Given the description of an element on the screen output the (x, y) to click on. 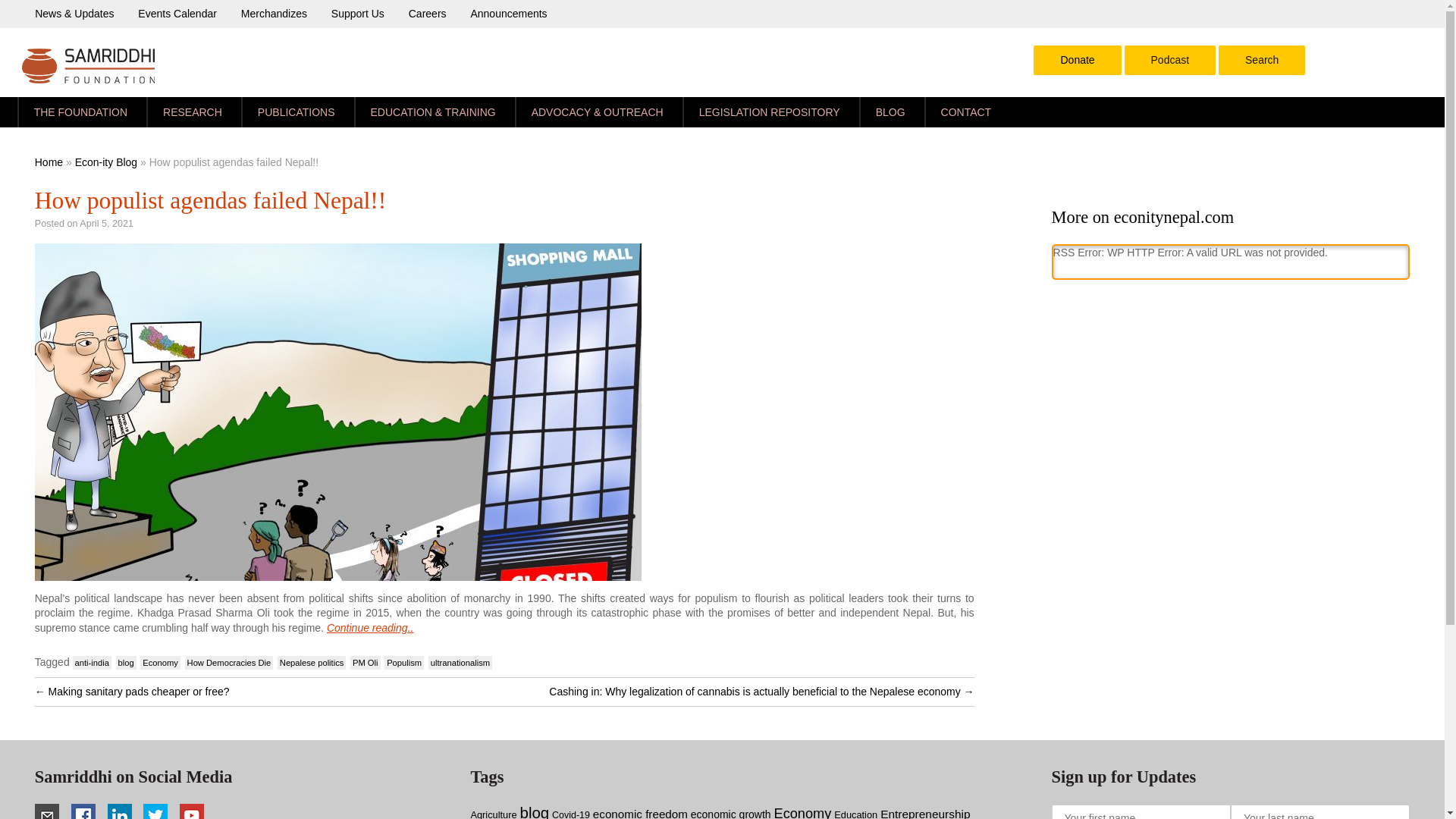
Support Us (357, 13)
Donate (1076, 60)
Donate (1077, 59)
Announcements (508, 13)
THE FOUNDATION (82, 112)
Podcast (1169, 53)
Twitter (154, 811)
PUBLICATIONS (297, 112)
Email (46, 811)
Facebook (83, 811)
Search (1261, 53)
Search (1261, 59)
LinkedIn (119, 811)
Donate (1076, 60)
Events Calendar (177, 13)
